Given the description of an element on the screen output the (x, y) to click on. 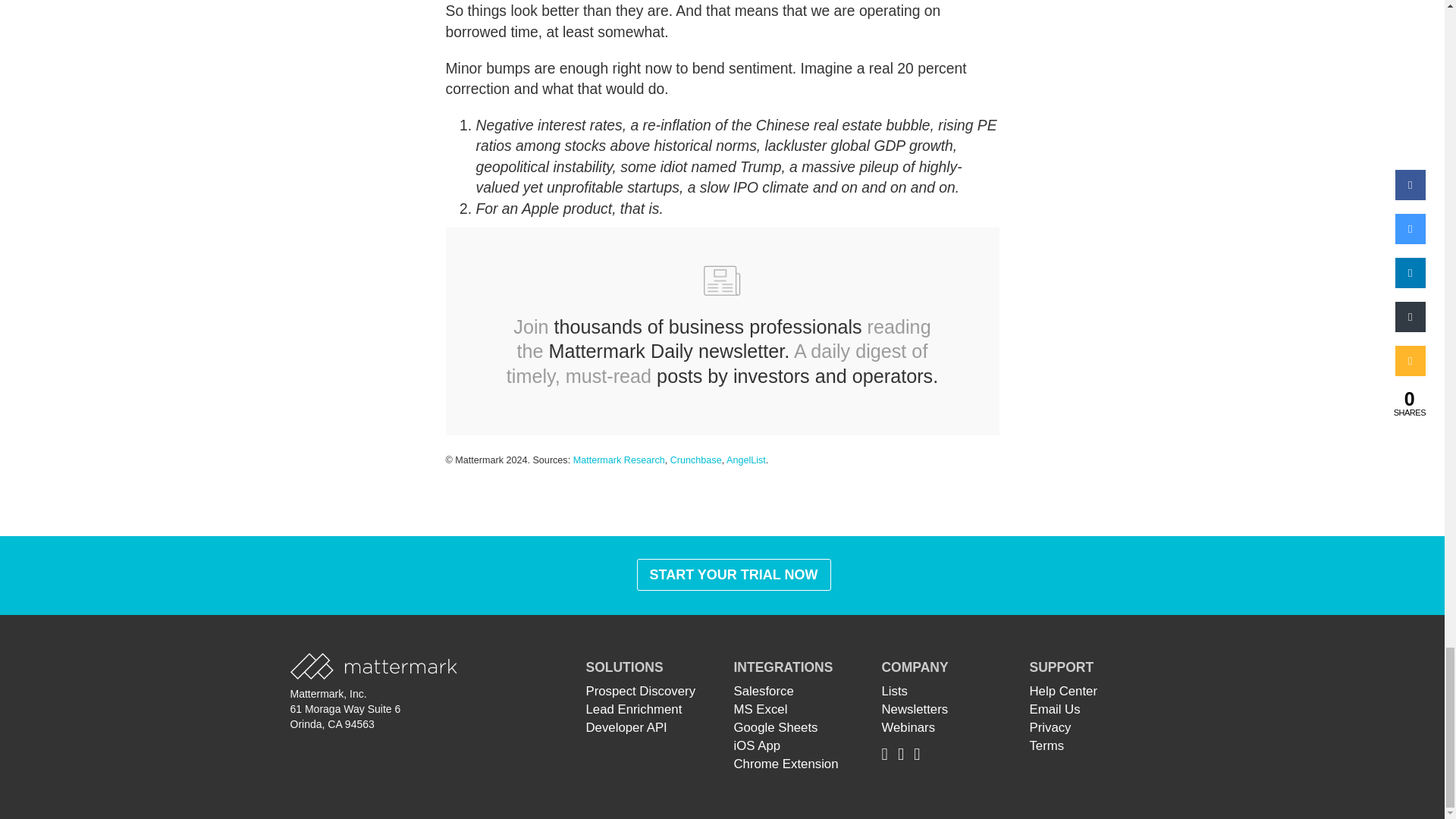
Prospect Discovery (640, 690)
Newsletters (913, 708)
Salesforce (763, 690)
START YOUR TRIAL NOW (734, 574)
Crunchbase (695, 460)
Google Sheets (774, 727)
AngelList (745, 460)
Developer API (625, 727)
MS Excel (760, 708)
iOS App (756, 745)
Chrome Extension (785, 763)
Lists (893, 690)
Mattermark Research (619, 460)
Lead Enrichment (633, 708)
